Given the description of an element on the screen output the (x, y) to click on. 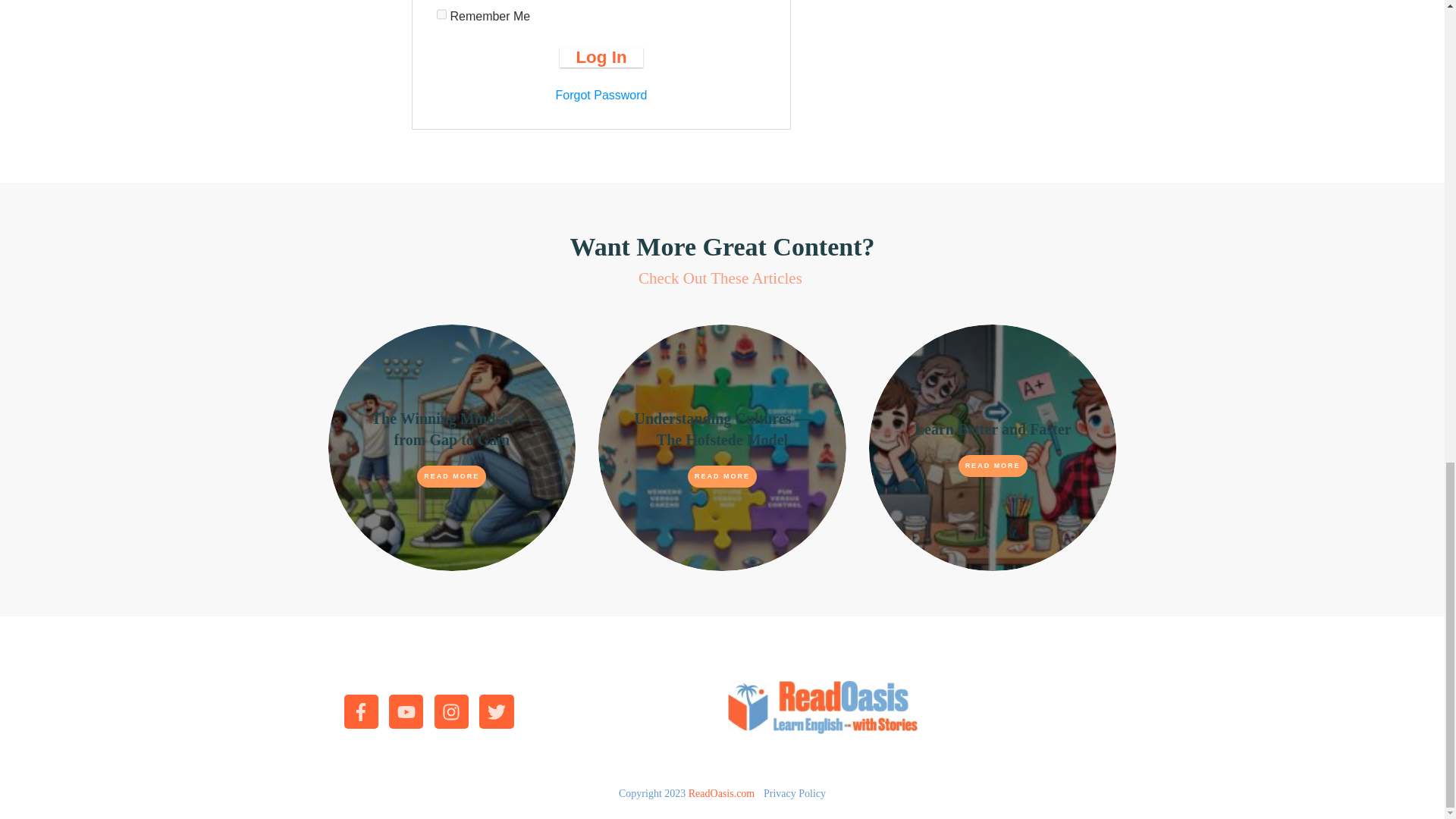
Log In (600, 57)
